Given the description of an element on the screen output the (x, y) to click on. 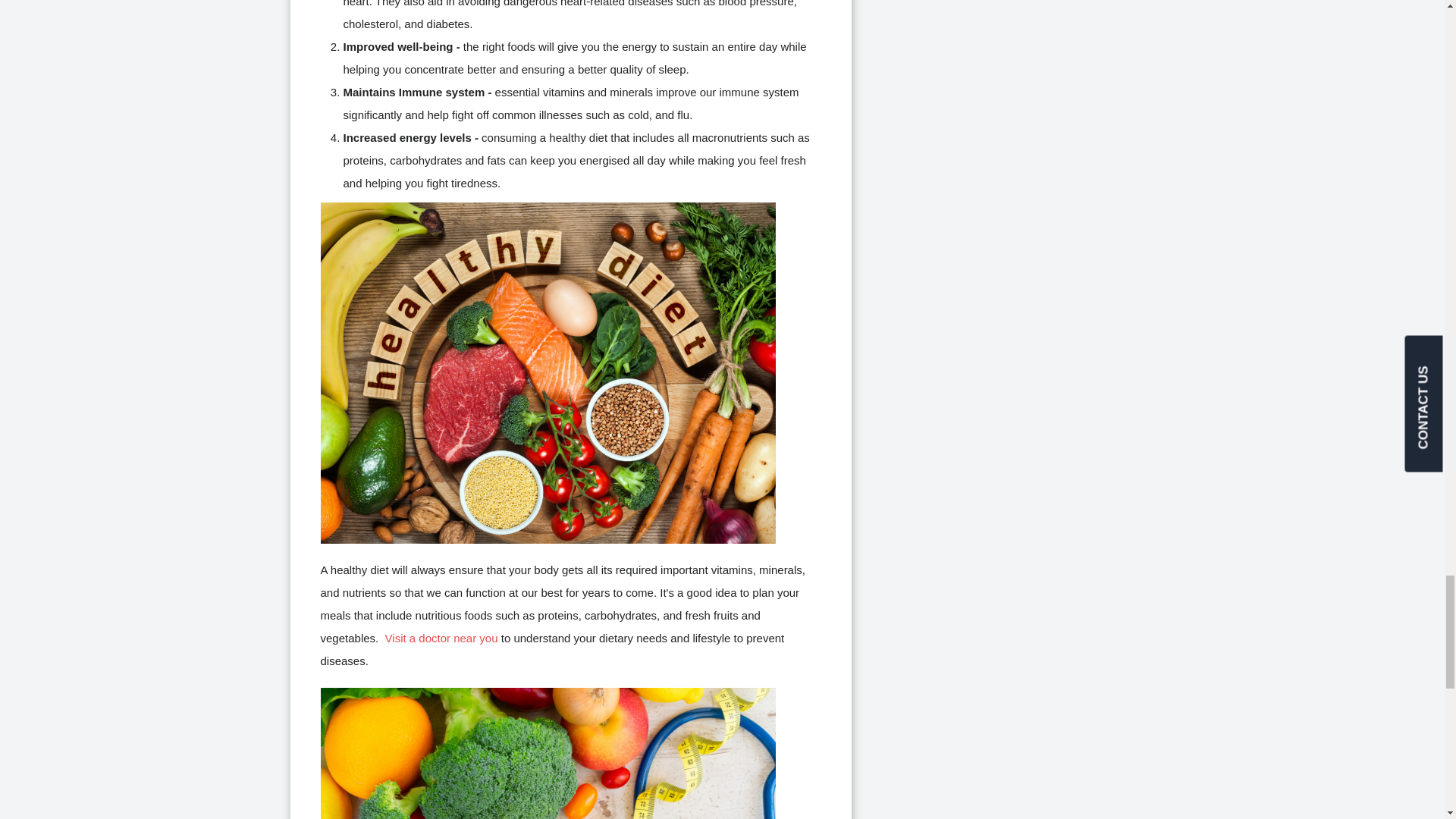
Visit a doctor near you (441, 636)
